Given the description of an element on the screen output the (x, y) to click on. 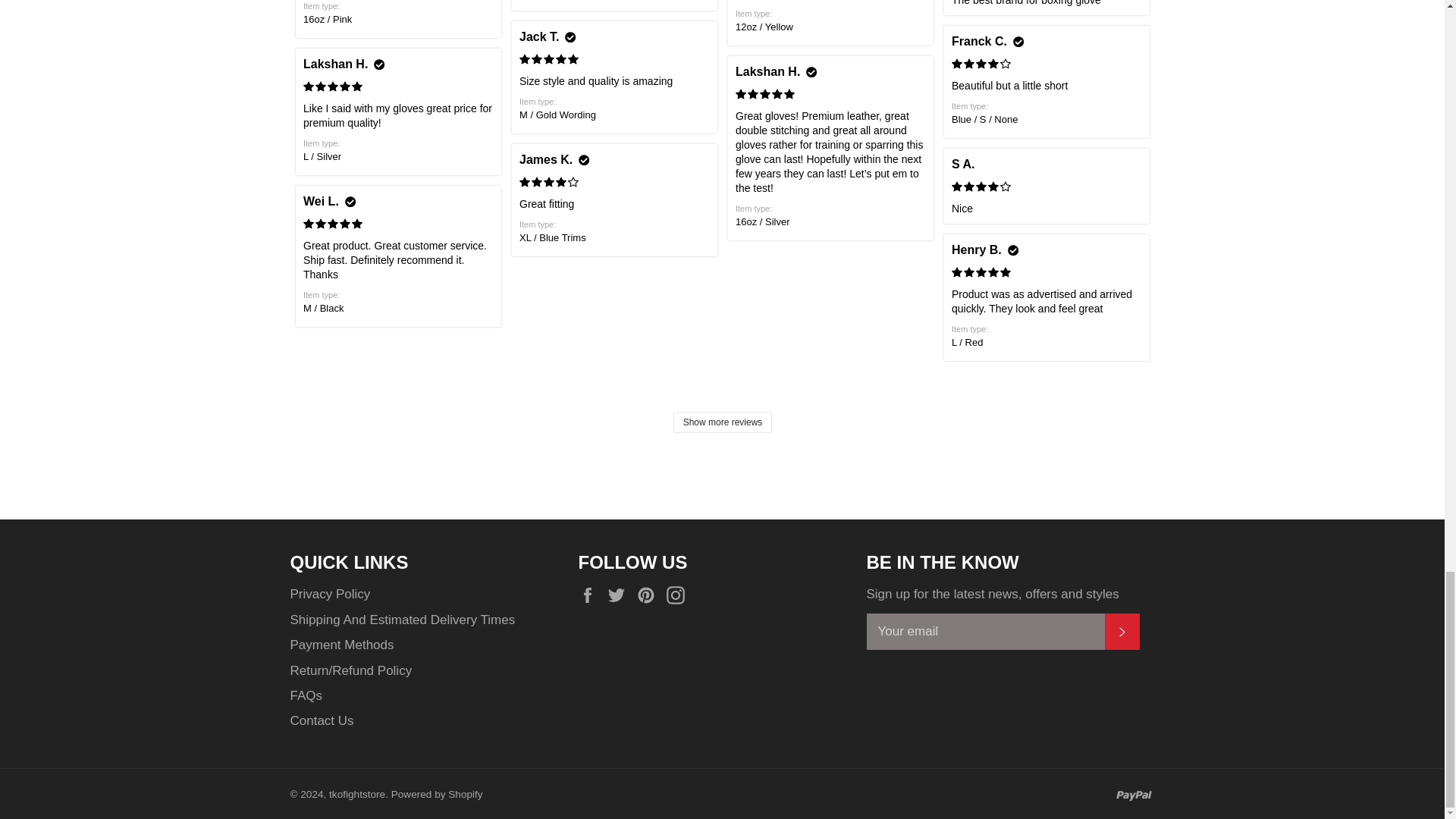
tkofightstore on Twitter (620, 594)
tkofightstore on Instagram (679, 594)
tkofightstore on Facebook (591, 594)
tkofightstore on Pinterest (649, 594)
